Given the description of an element on the screen output the (x, y) to click on. 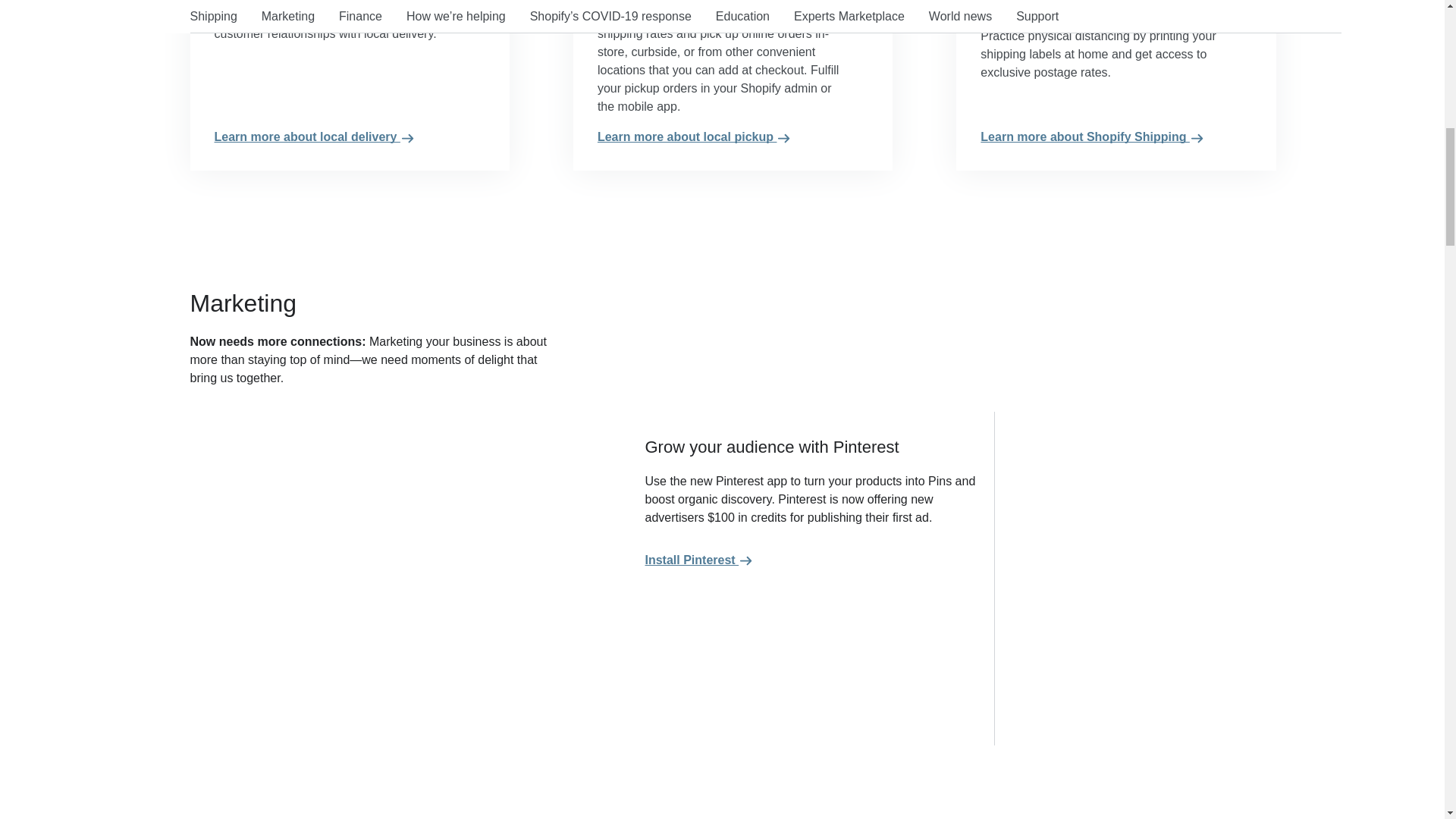
Learn more about local delivery  (349, 136)
Learn more about Shopify Shipping  (1114, 136)
Learn more about local pickup  (731, 136)
Install Pinterest  (698, 559)
